Given the description of an element on the screen output the (x, y) to click on. 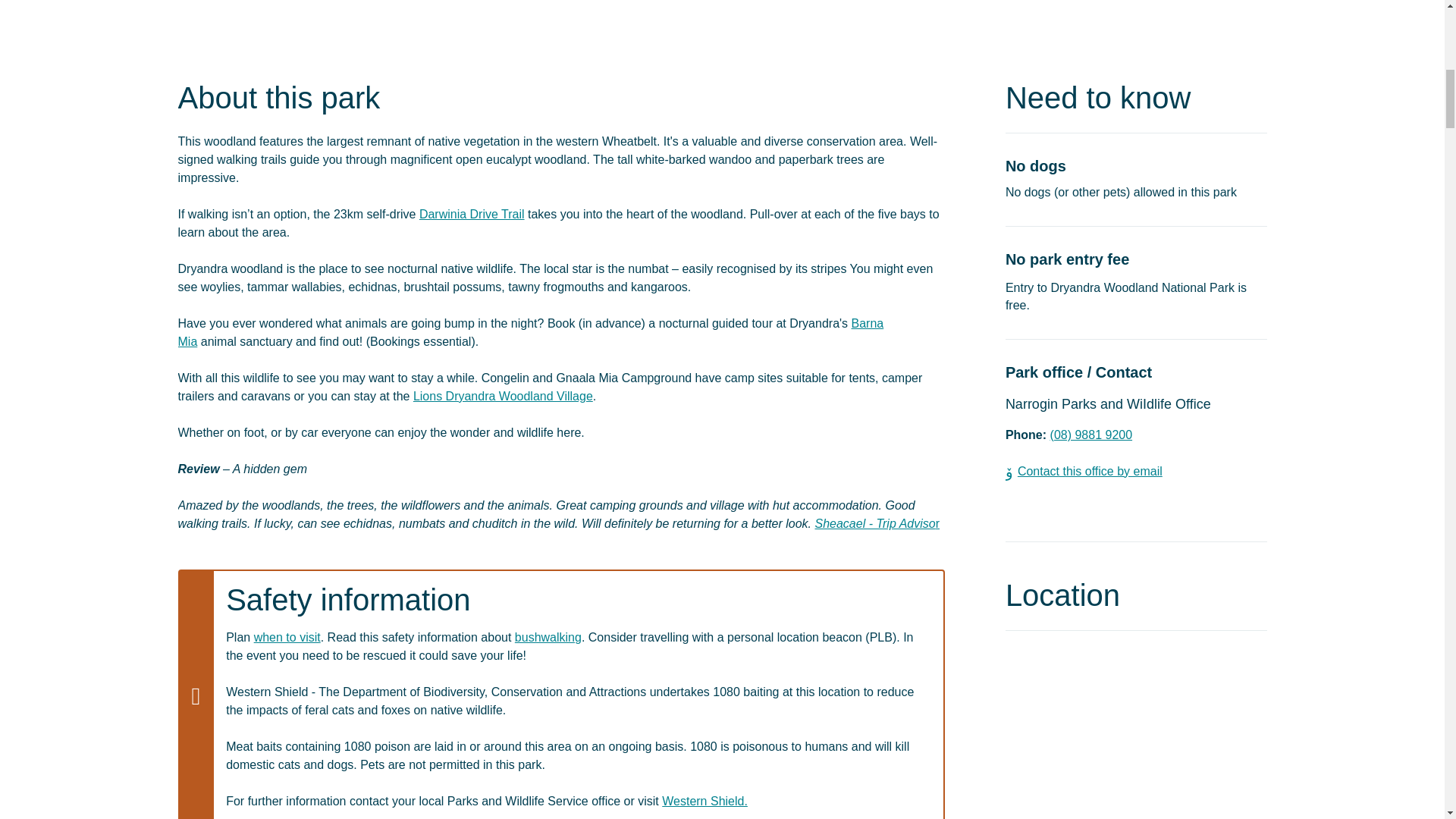
Barna Mia Nocturnal Wildlife Experience (530, 332)
Darwinia Drive Trail (471, 214)
Darwinia Drive Trail (471, 214)
Lions Dryandra Woodland Village (502, 395)
Barna Mia (530, 332)
